Given the description of an element on the screen output the (x, y) to click on. 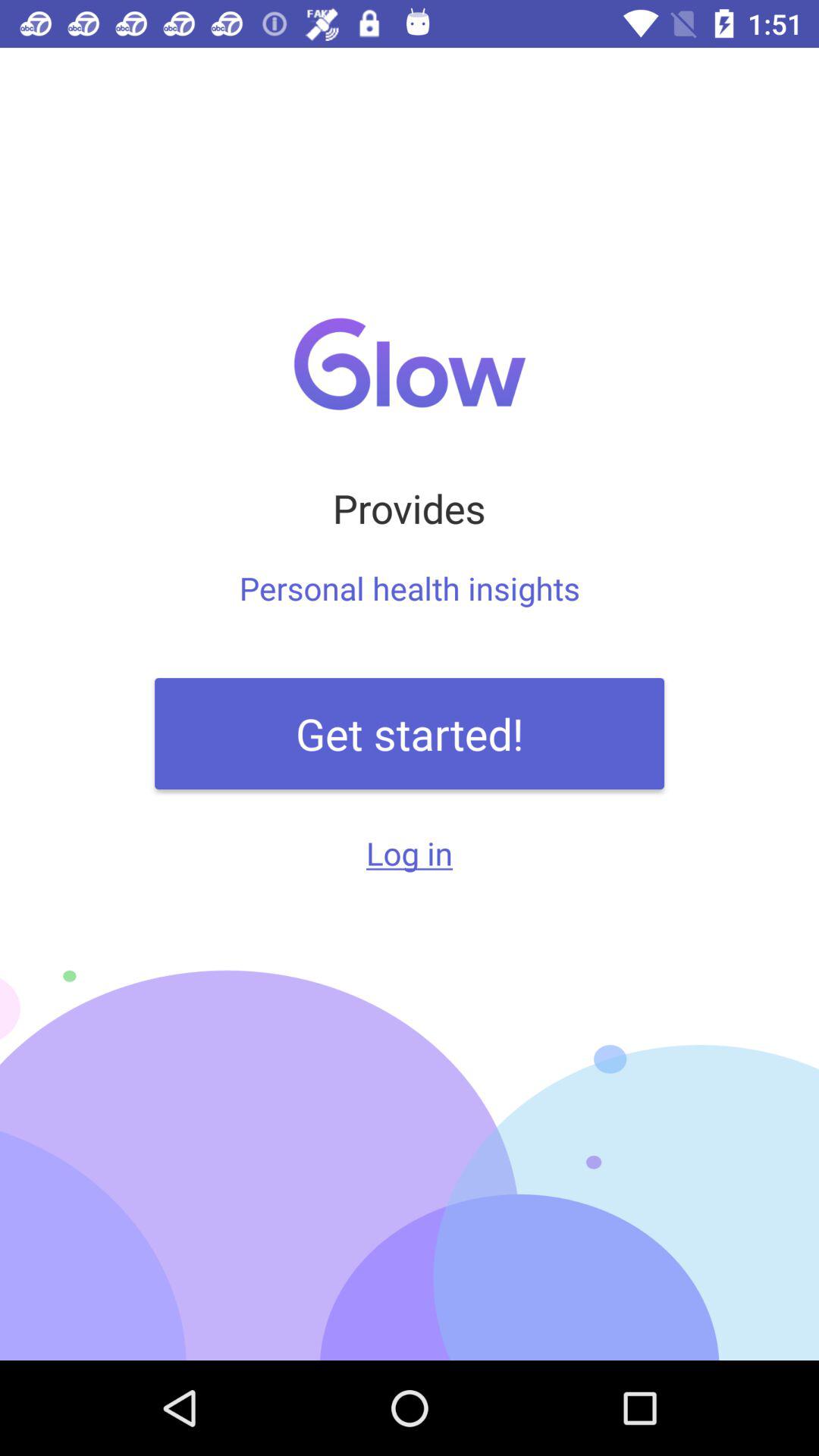
scroll until log in (409, 852)
